Given the description of an element on the screen output the (x, y) to click on. 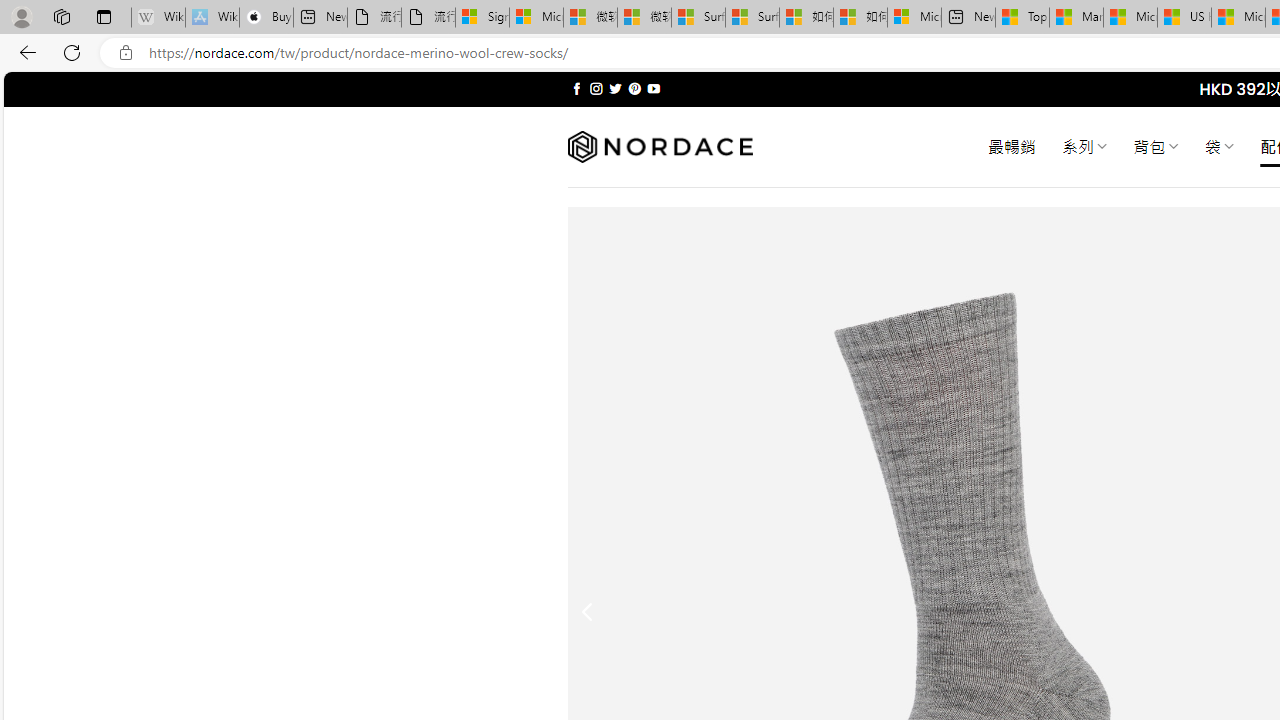
Buy iPad - Apple (266, 17)
US Heat Deaths Soared To Record High Last Year (1184, 17)
Follow on Twitter (615, 88)
Marine life - MSN (1076, 17)
